Given the description of an element on the screen output the (x, y) to click on. 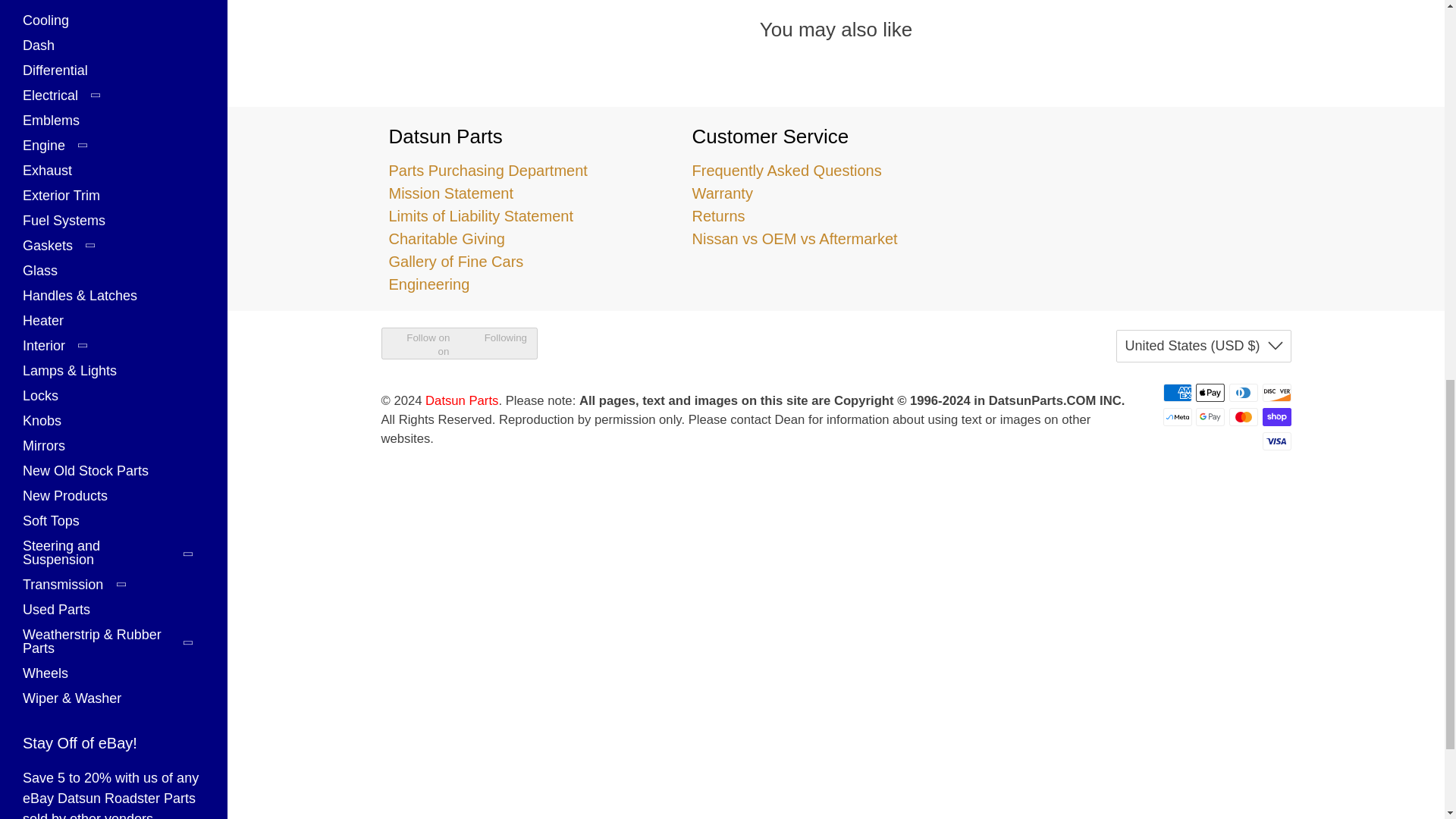
American Express (1177, 393)
Datsun Parts (1138, 177)
Shop Pay (1276, 416)
Discover (1276, 393)
Google Pay (1209, 416)
Apple Pay (1209, 393)
Visa (1276, 441)
Meta Pay (1177, 416)
Mastercard (1242, 416)
Diners Club (1242, 393)
